Given the description of an element on the screen output the (x, y) to click on. 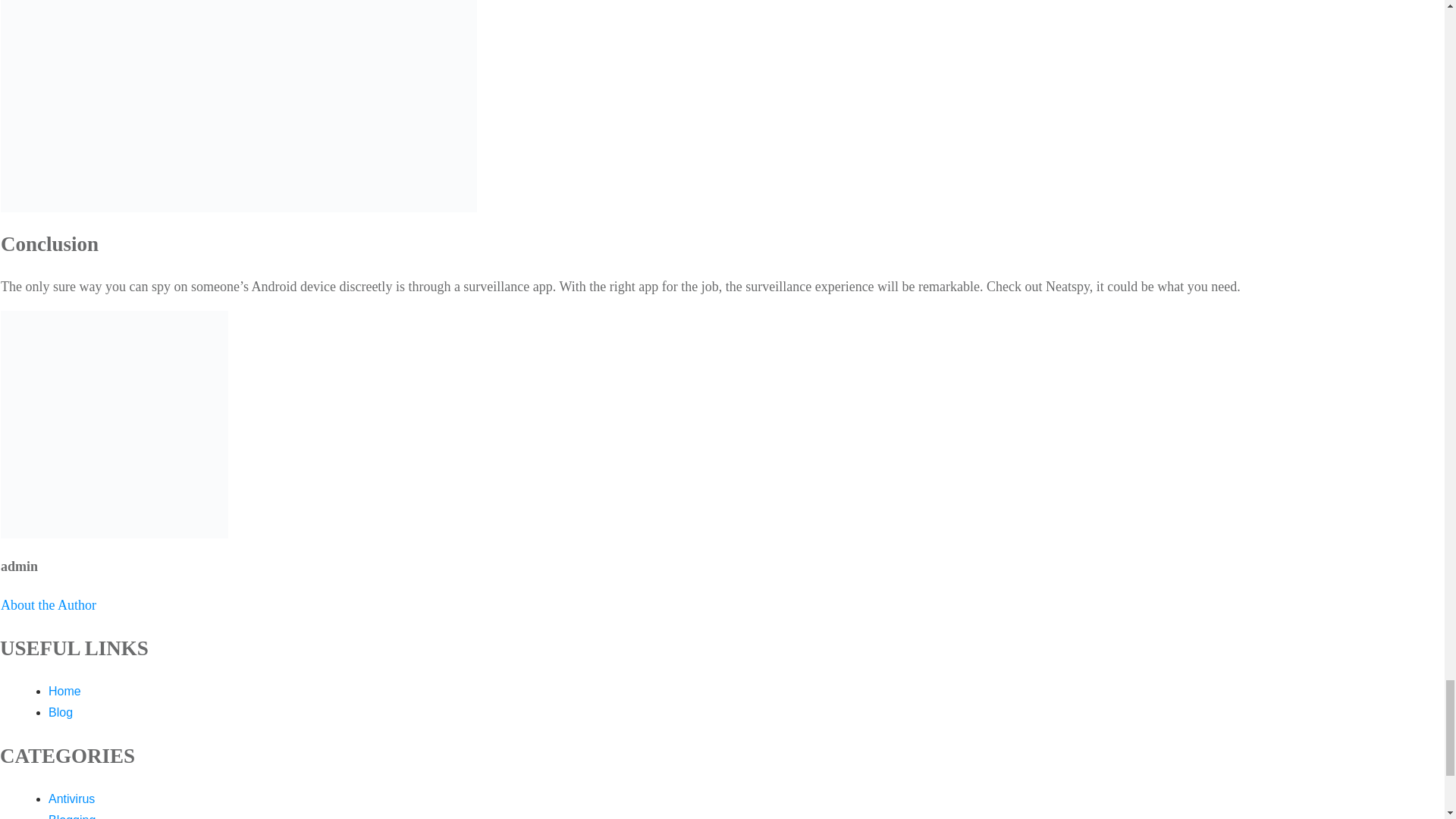
How to Spy on Someone's Android Without Them Knowing 8 (239, 106)
